Given the description of an element on the screen output the (x, y) to click on. 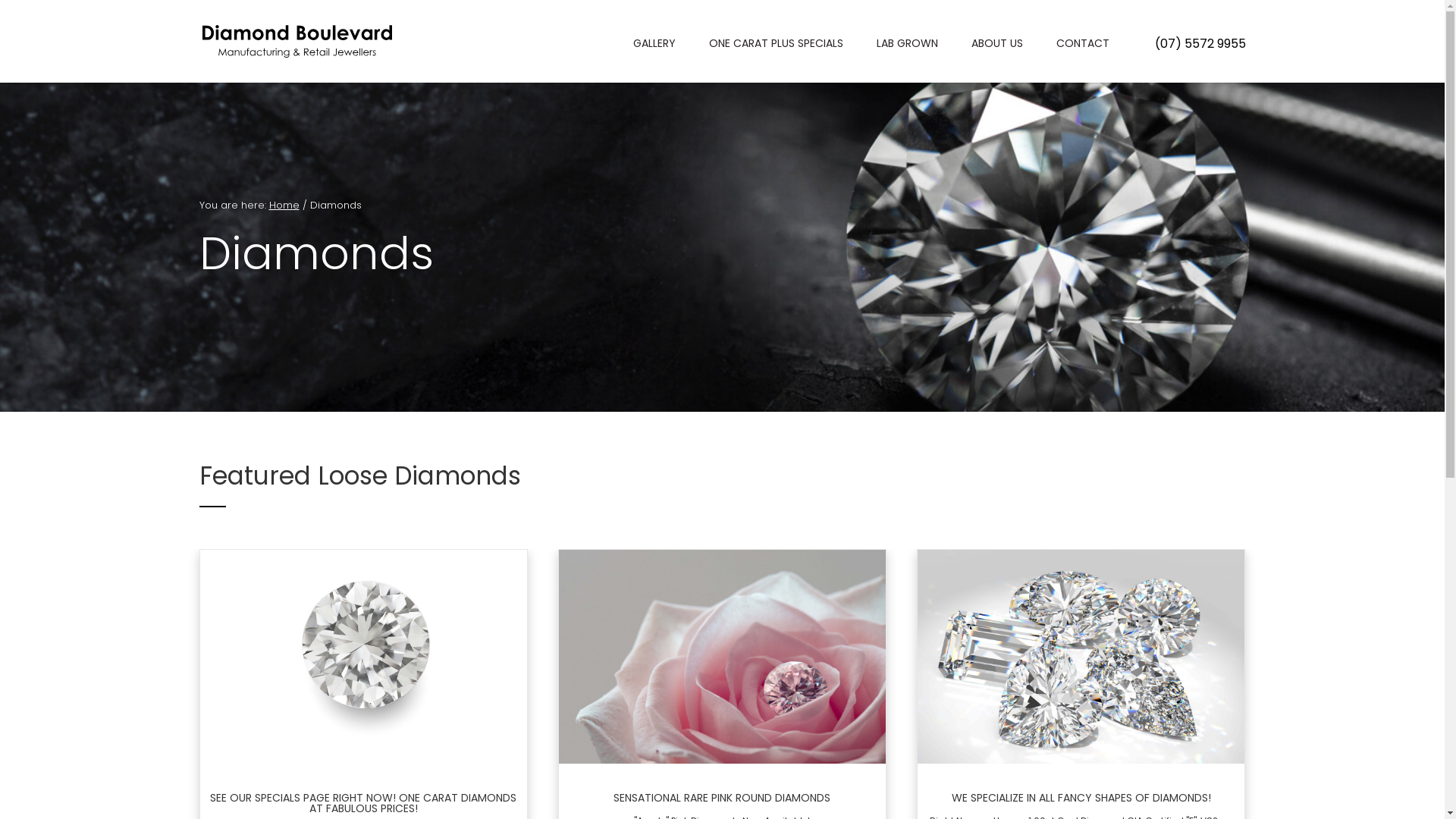
(07) 5572 9955 Element type: text (1199, 43)
ABOUT US Element type: text (996, 44)
ONE CARAT PLUS SPECIALS Element type: text (775, 44)
WE SPECIALIZE IN ALL FANCY SHAPES OF DIAMONDS! Element type: text (1081, 797)
Home Element type: text (283, 204)
SENSATIONAL RARE PINK ROUND DIAMONDS Element type: text (721, 797)
GALLERY Element type: text (653, 44)
CONTACT Element type: text (1081, 44)
LAB GROWN Element type: text (907, 44)
